Given the description of an element on the screen output the (x, y) to click on. 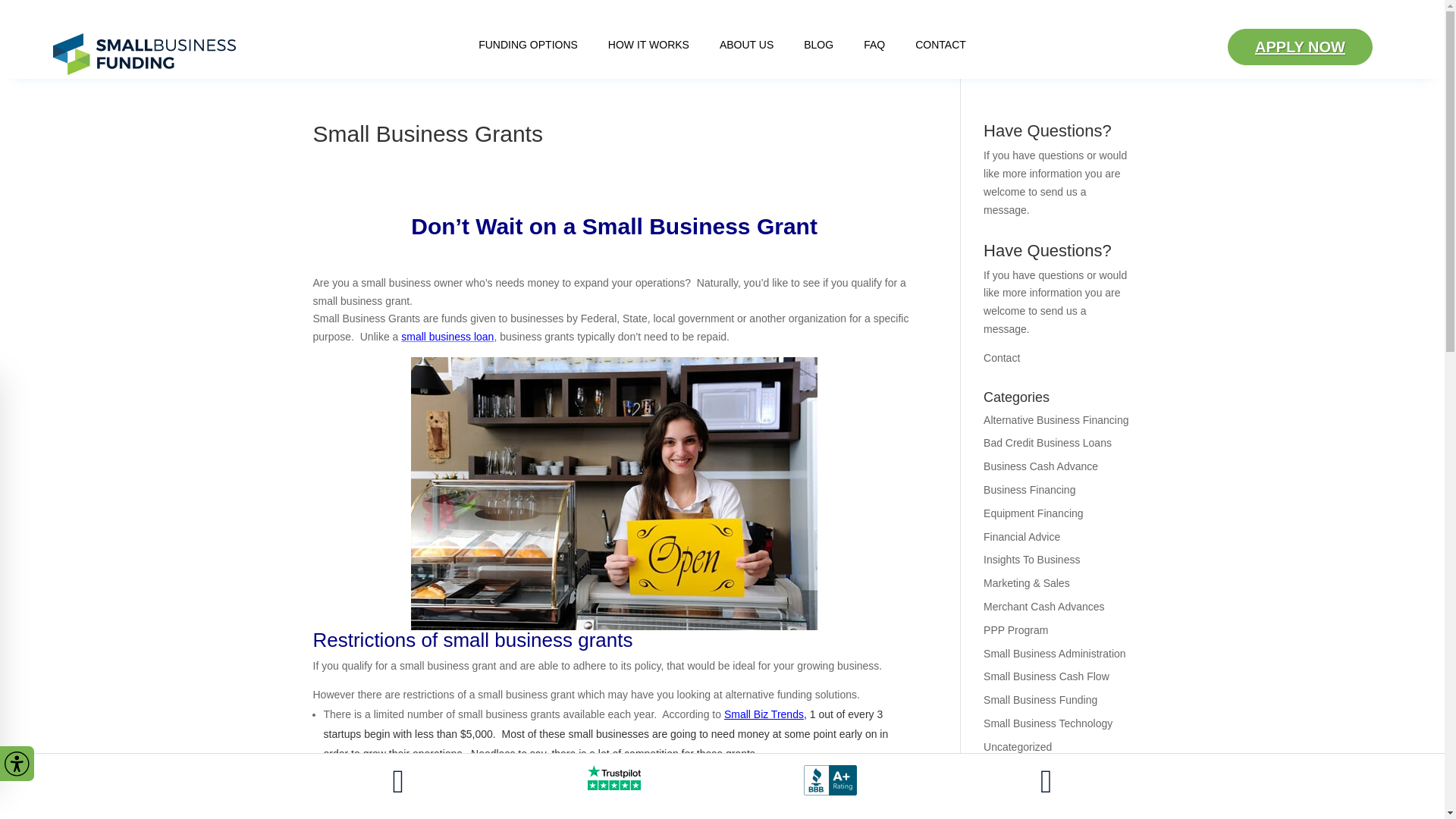
Business Cash Advance (1040, 466)
Bad Credit Business Loans (1048, 442)
Working Capital (1021, 793)
Small Business Technology (1048, 723)
Business Financing (1029, 490)
Financial Advice (1021, 536)
CONTACT (940, 47)
Merchant Cash Advances (1044, 606)
FAQ (874, 47)
PPP Program (1016, 630)
Equipment Financing (1033, 512)
Women in Business (1030, 770)
Contact (1002, 357)
APPLY NOW (1300, 46)
